Given the description of an element on the screen output the (x, y) to click on. 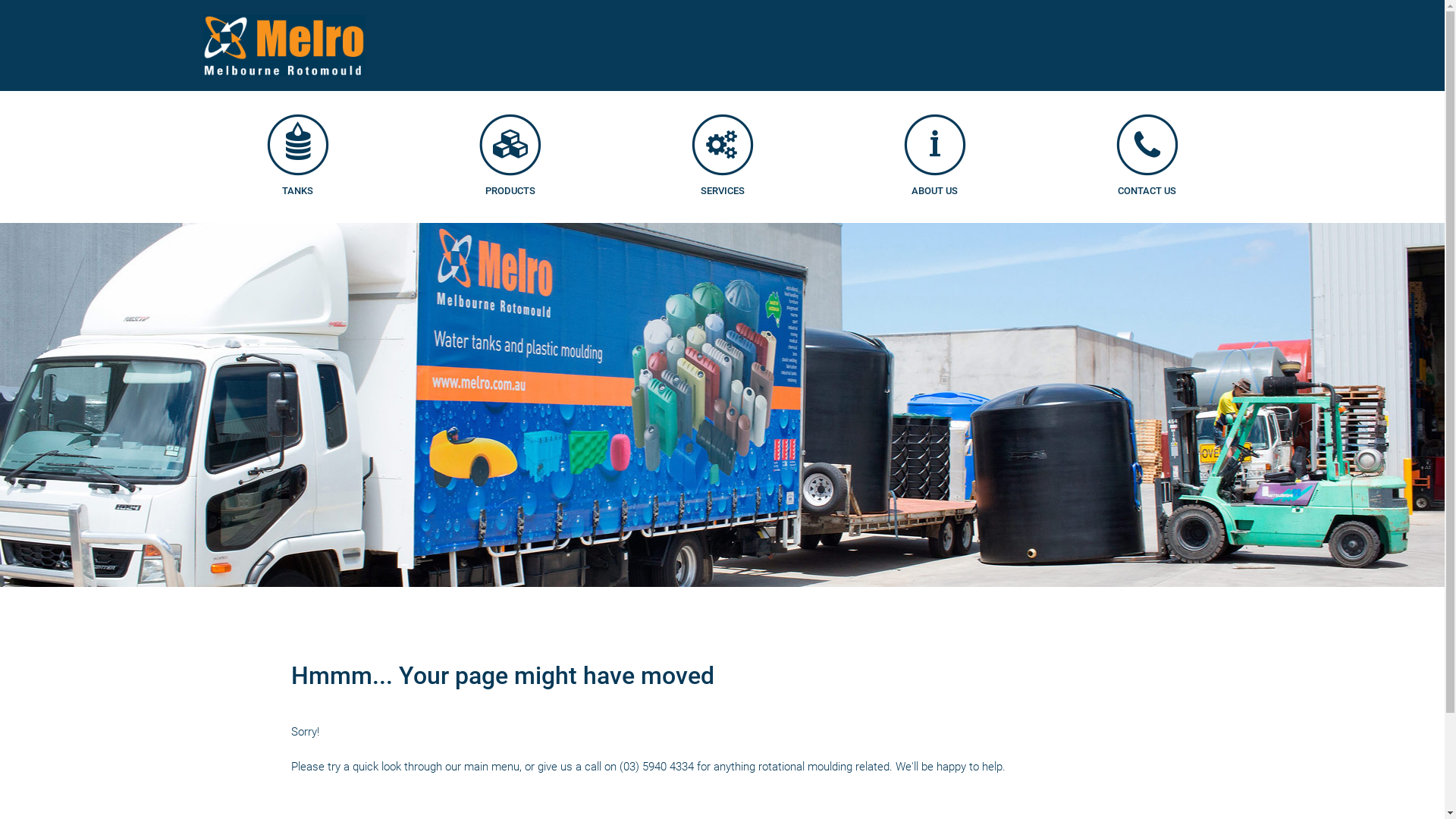
TANKS Element type: text (297, 178)
ABOUT US Element type: text (934, 178)
SERVICES Element type: text (722, 178)
CONTACT US Element type: text (1147, 178)
Home Element type: hover (283, 44)
PRODUCTS Element type: text (510, 178)
